Given the description of an element on the screen output the (x, y) to click on. 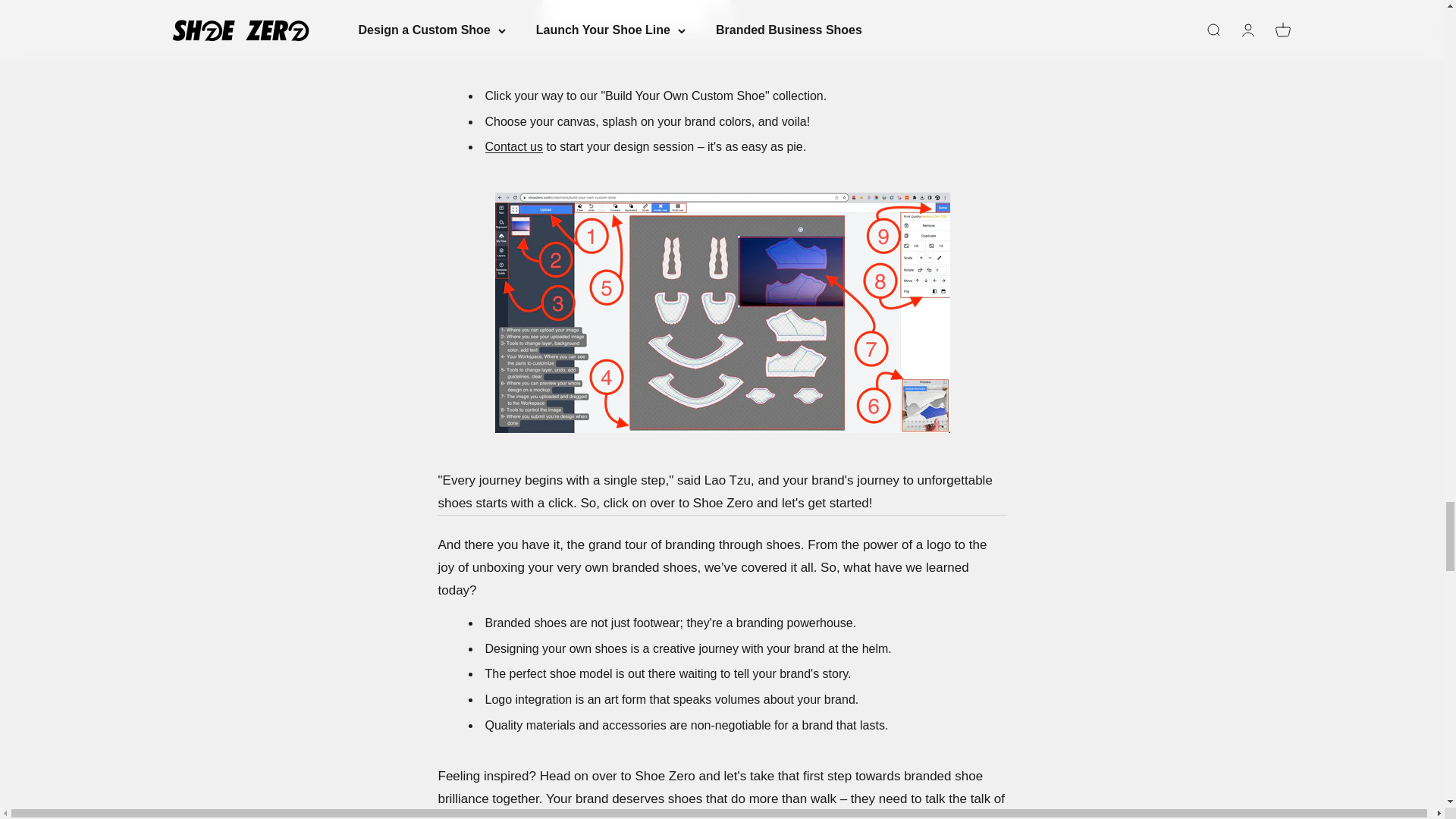
Contact Us (513, 146)
